Given the description of an element on the screen output the (x, y) to click on. 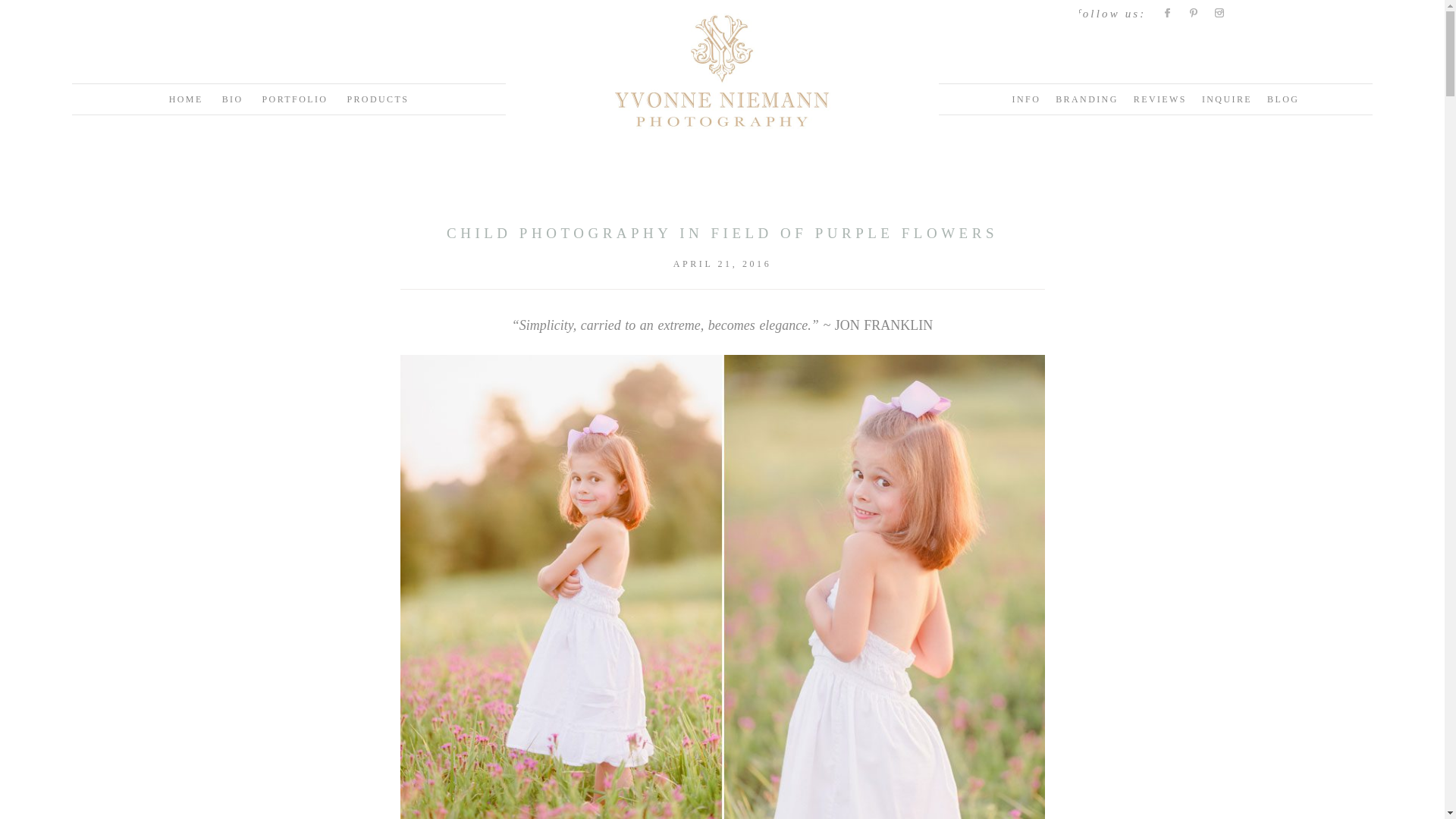
BIO (232, 99)
PORTFOLIO (295, 99)
INQUIRE (1227, 99)
HOME (185, 99)
INFO (1026, 99)
REVIEWS (1160, 99)
PRODUCTS (377, 99)
BLOG (1282, 99)
BRANDING (1086, 99)
